Given the description of an element on the screen output the (x, y) to click on. 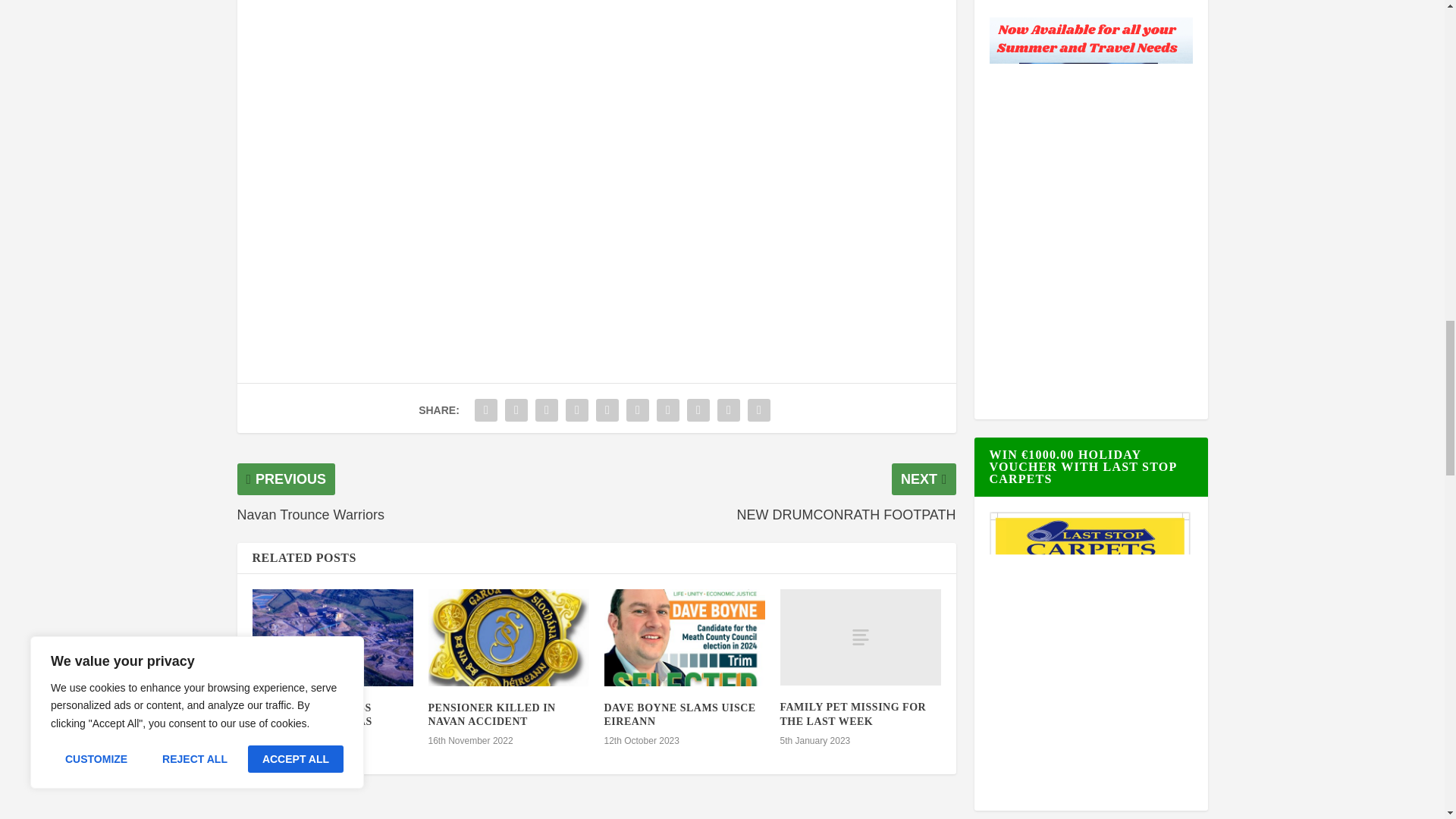
Share "Nobber to Kilmainhamwood Greenway NOW Open" via Print (759, 409)
Share "Nobber to Kilmainhamwood Greenway NOW Open" via Email (728, 409)
